Given the description of an element on the screen output the (x, y) to click on. 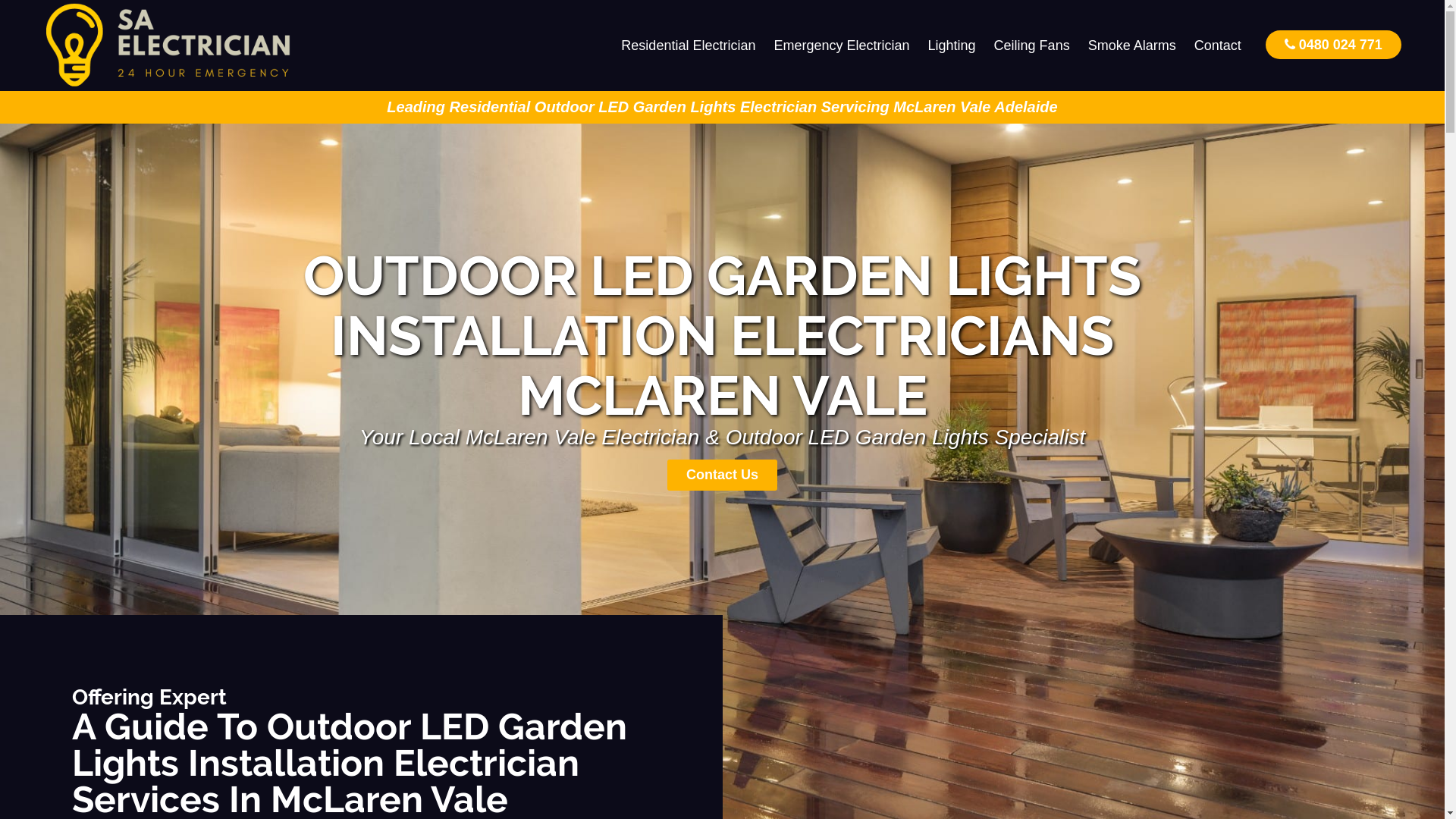
Residential Electrician Element type: text (687, 45)
0480 024 771 Element type: text (1333, 44)
Contact Element type: text (1217, 45)
Lighting Element type: text (952, 45)
Contact Us Element type: text (722, 474)
Ceiling Fans Element type: text (1032, 45)
Smoke Alarms Element type: text (1132, 45)
Emergency Electrician Element type: text (841, 45)
